Given the description of an element on the screen output the (x, y) to click on. 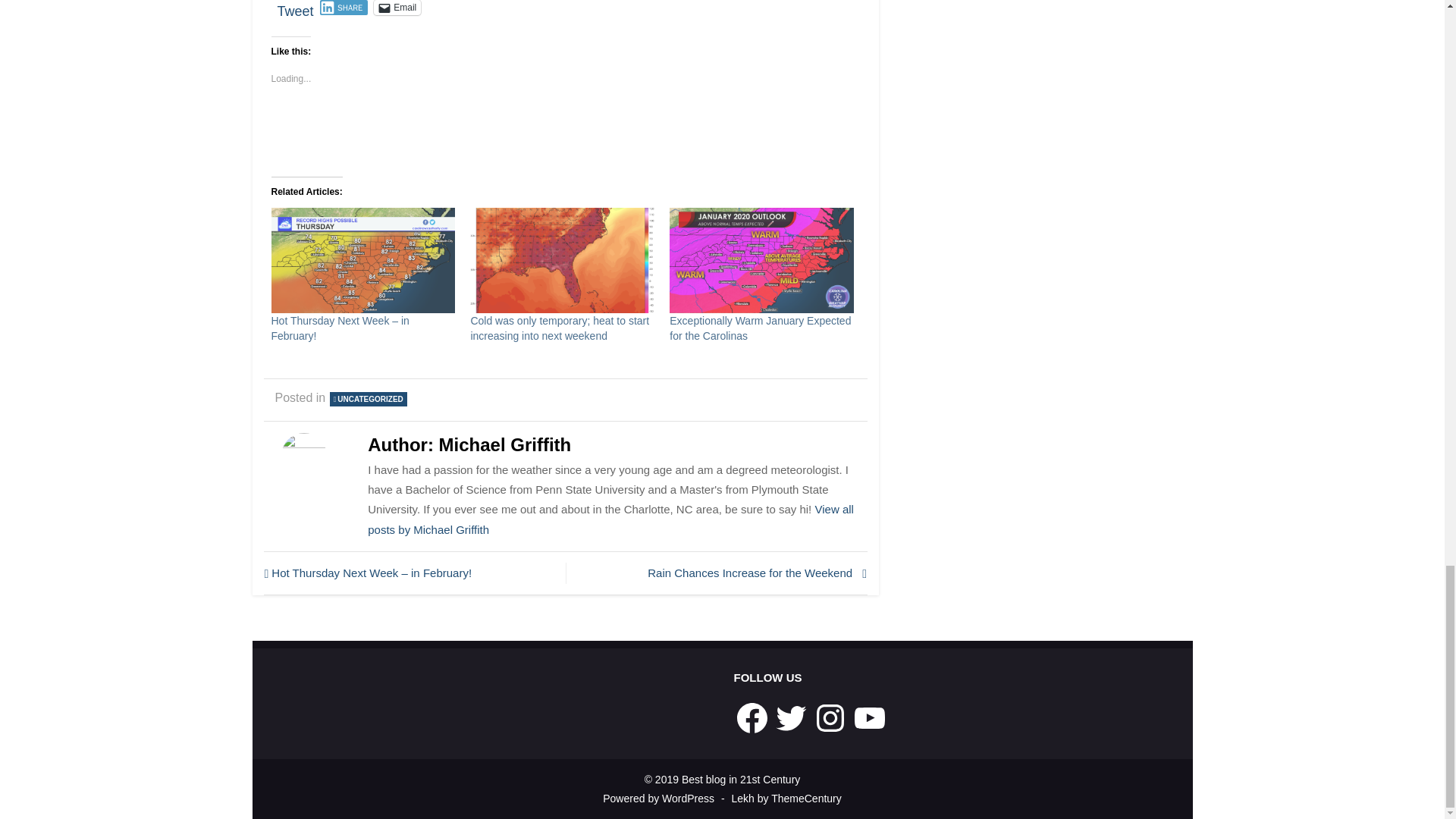
View all posts by Michael Griffith (610, 518)
Tweet (296, 6)
Email (397, 7)
SHARE (344, 7)
Rain Chances Increase for the Weekend (720, 573)
Exceptionally Warm January Expected for the Carolinas (759, 328)
Like or Reblog (565, 128)
Exceptionally Warm January Expected for the Carolinas (759, 328)
UNCATEGORIZED (368, 399)
Click to email a link to a friend (397, 7)
Exceptionally Warm January Expected for the Carolinas (761, 260)
